Given the description of an element on the screen output the (x, y) to click on. 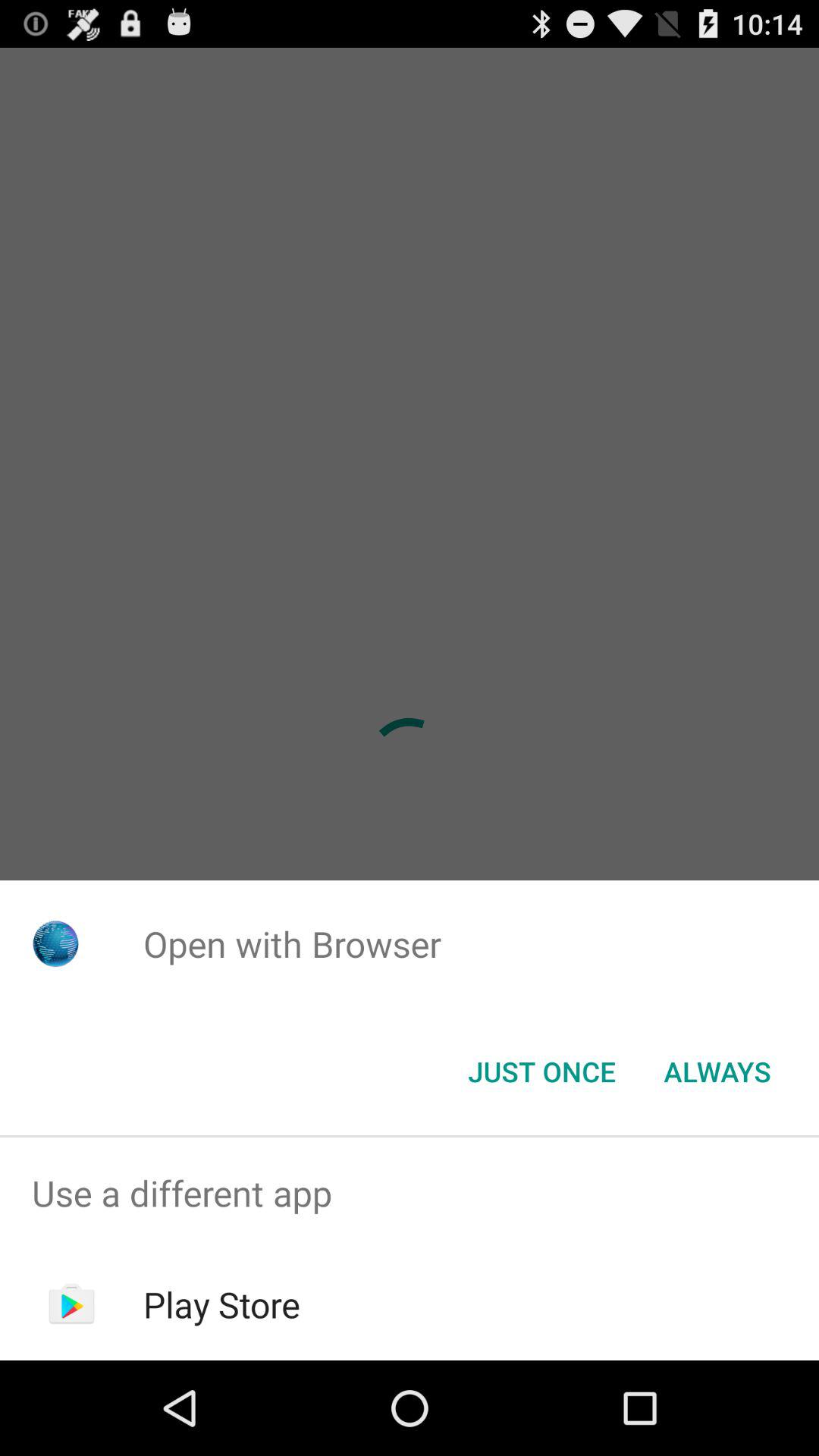
scroll until just once (541, 1071)
